Given the description of an element on the screen output the (x, y) to click on. 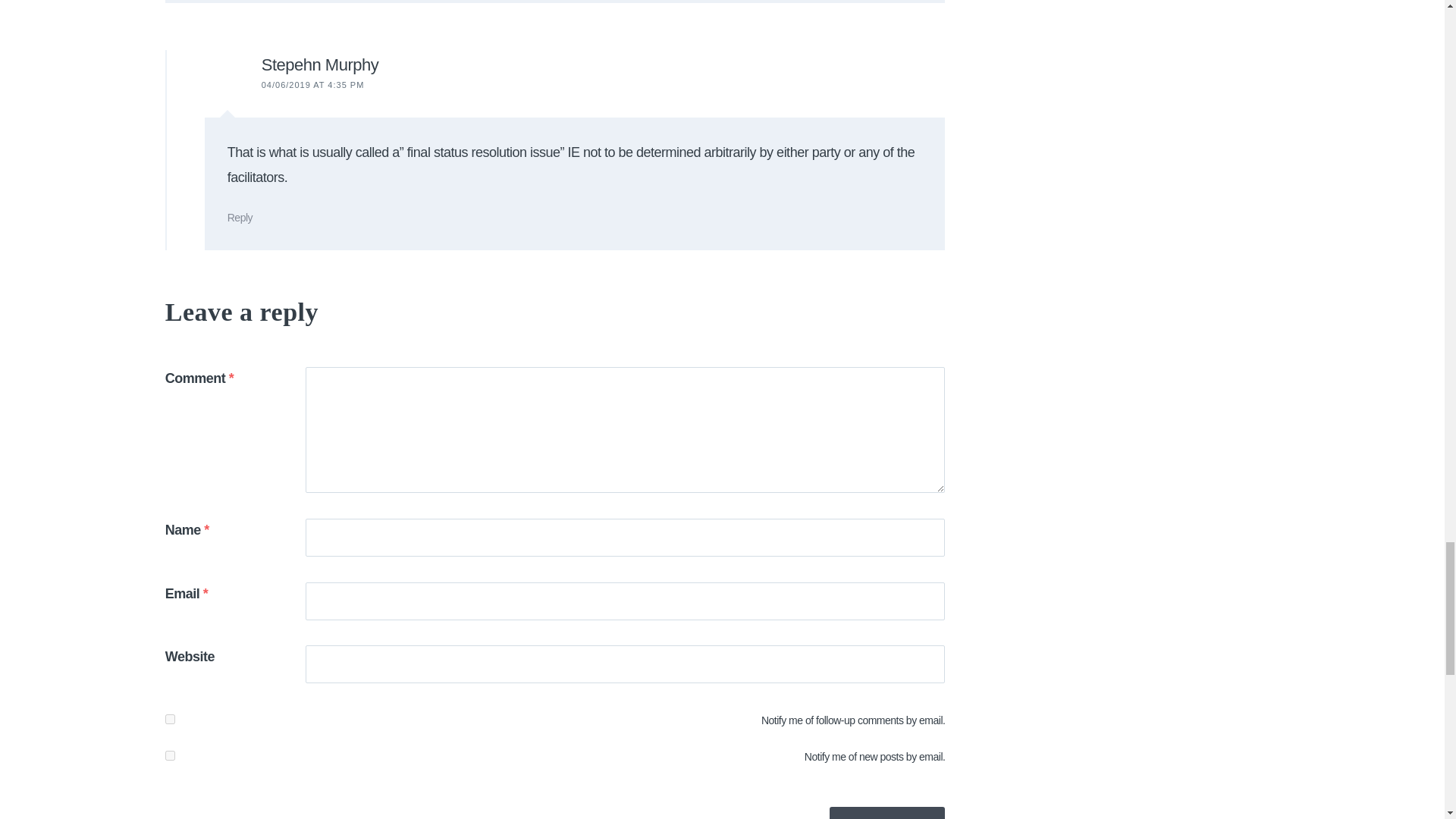
subscribe (169, 755)
Post Comment (886, 812)
subscribe (169, 718)
